Given the description of an element on the screen output the (x, y) to click on. 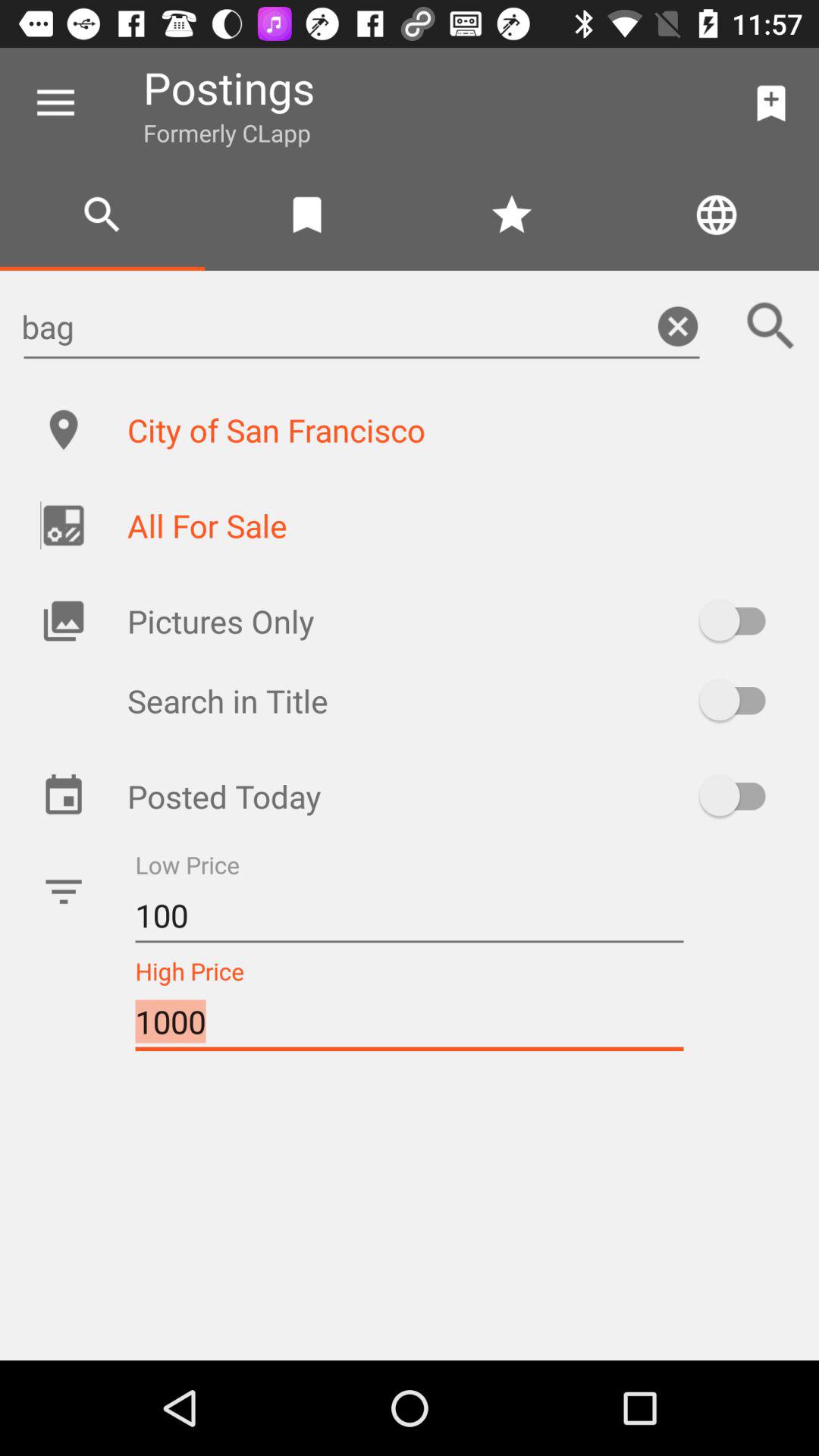
search option (771, 326)
